Given the description of an element on the screen output the (x, y) to click on. 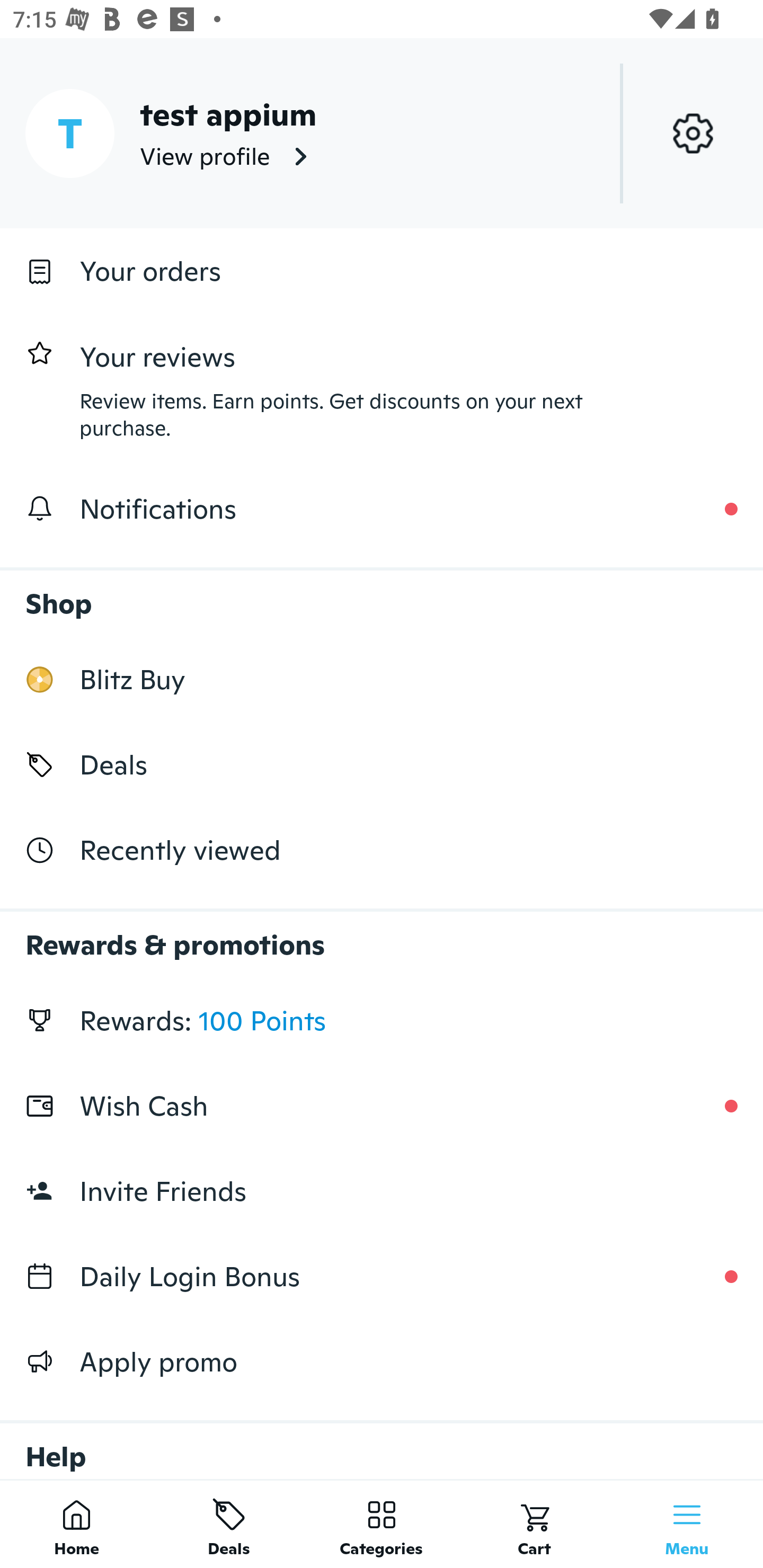
T test appium View profile (381, 132)
Your orders (381, 270)
Notifications (381, 508)
Shop (381, 593)
Blitz Buy (381, 679)
Deals (381, 764)
Recently viewed (381, 850)
Rewards & promotions (381, 935)
Rewards: 100 Points (381, 1020)
Wish Cash (381, 1106)
Invite Friends (381, 1190)
Daily Login Bonus (381, 1277)
Apply promo (381, 1361)
Help (381, 1441)
Home (76, 1523)
Deals (228, 1523)
Categories (381, 1523)
Cart (533, 1523)
Menu (686, 1523)
